Given the description of an element on the screen output the (x, y) to click on. 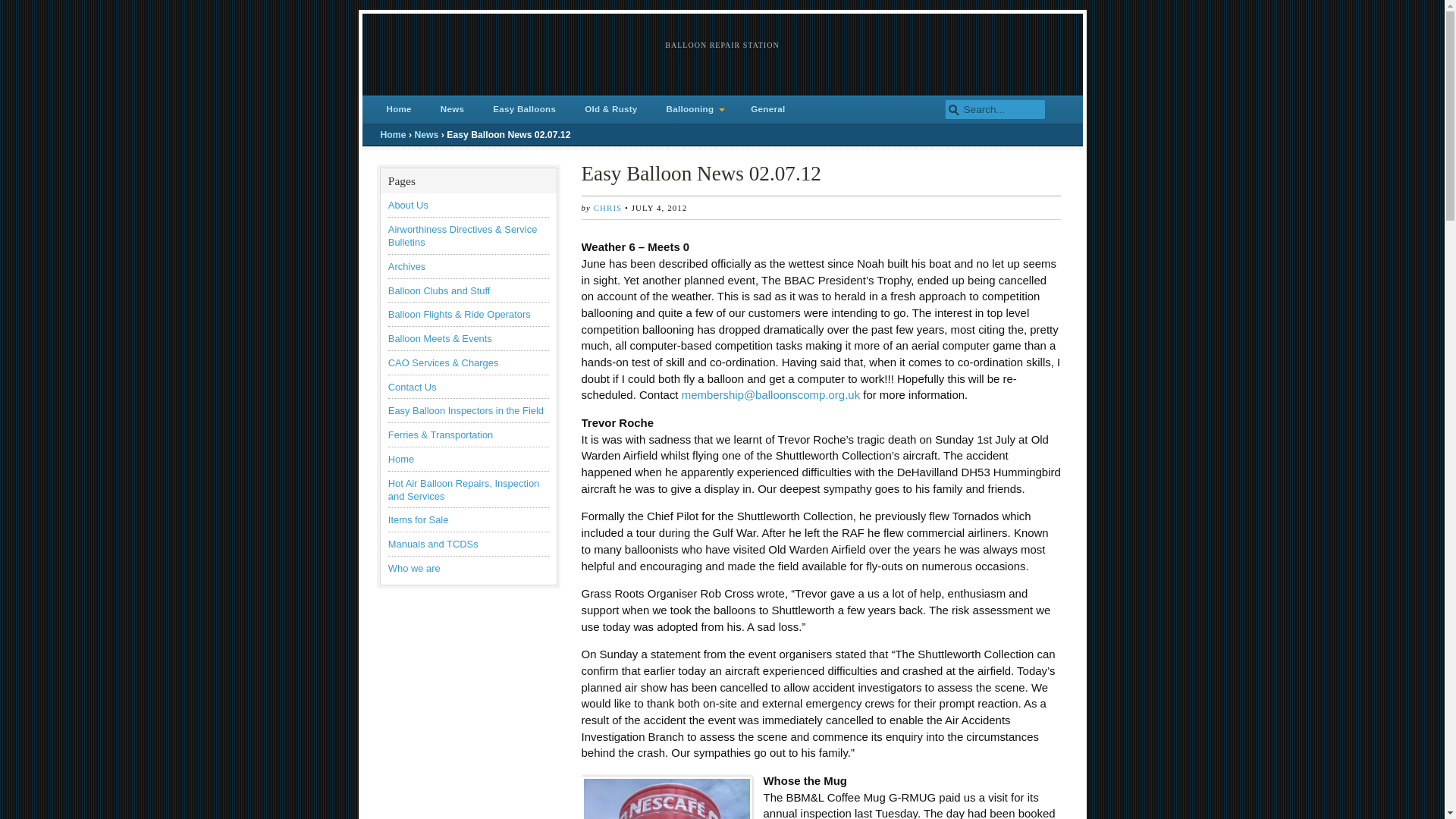
Ballooning (694, 109)
Balloon Clubs and Stuff (439, 290)
Home (398, 109)
General (766, 109)
News (451, 109)
Archives (407, 266)
Home (400, 459)
Hot Air Balloon Repairs, Inspection and Services (463, 489)
News (425, 134)
CHRIS (607, 207)
